Given the description of an element on the screen output the (x, y) to click on. 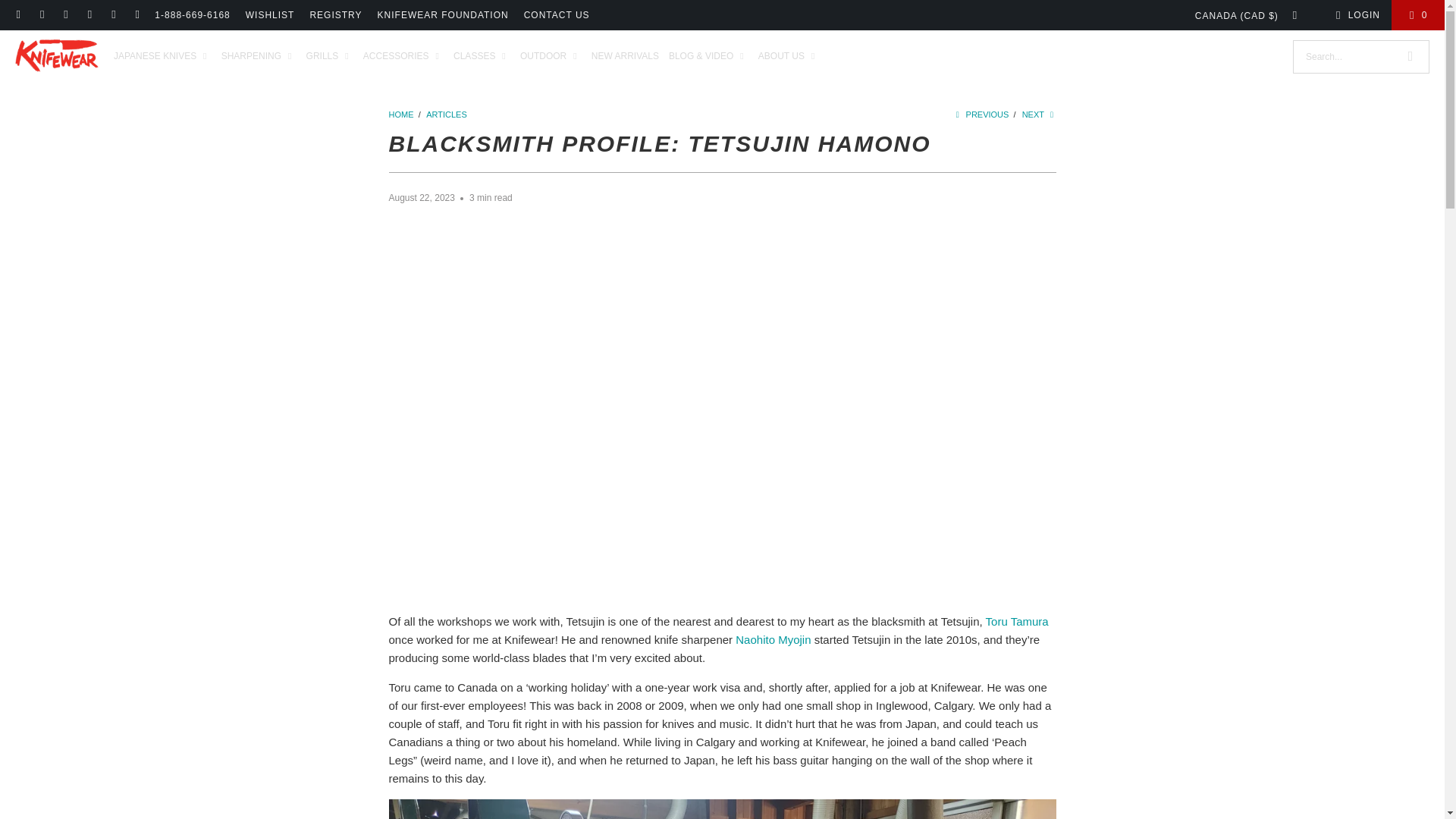
Knifewear - Handcrafted Japanese Kitchen Knives on Twitter (112, 14)
Email Knifewear - Handcrafted Japanese Kitchen Knives (17, 14)
My Account  (1355, 14)
Knifewear - Handcrafted Japanese Kitchen Knives on Instagram (65, 14)
Knifewear - Handcrafted Japanese Kitchen Knives (56, 55)
articles (446, 113)
Knifewear - Handcrafted Japanese Kitchen Knives on YouTube (136, 14)
Knifewear - Handcrafted Japanese Kitchen Knives on Facebook (41, 14)
Knifewear - Handcrafted Japanese Kitchen Knives (401, 113)
Knifewear - Handcrafted Japanese Kitchen Knives on TikTok (89, 14)
